Given the description of an element on the screen output the (x, y) to click on. 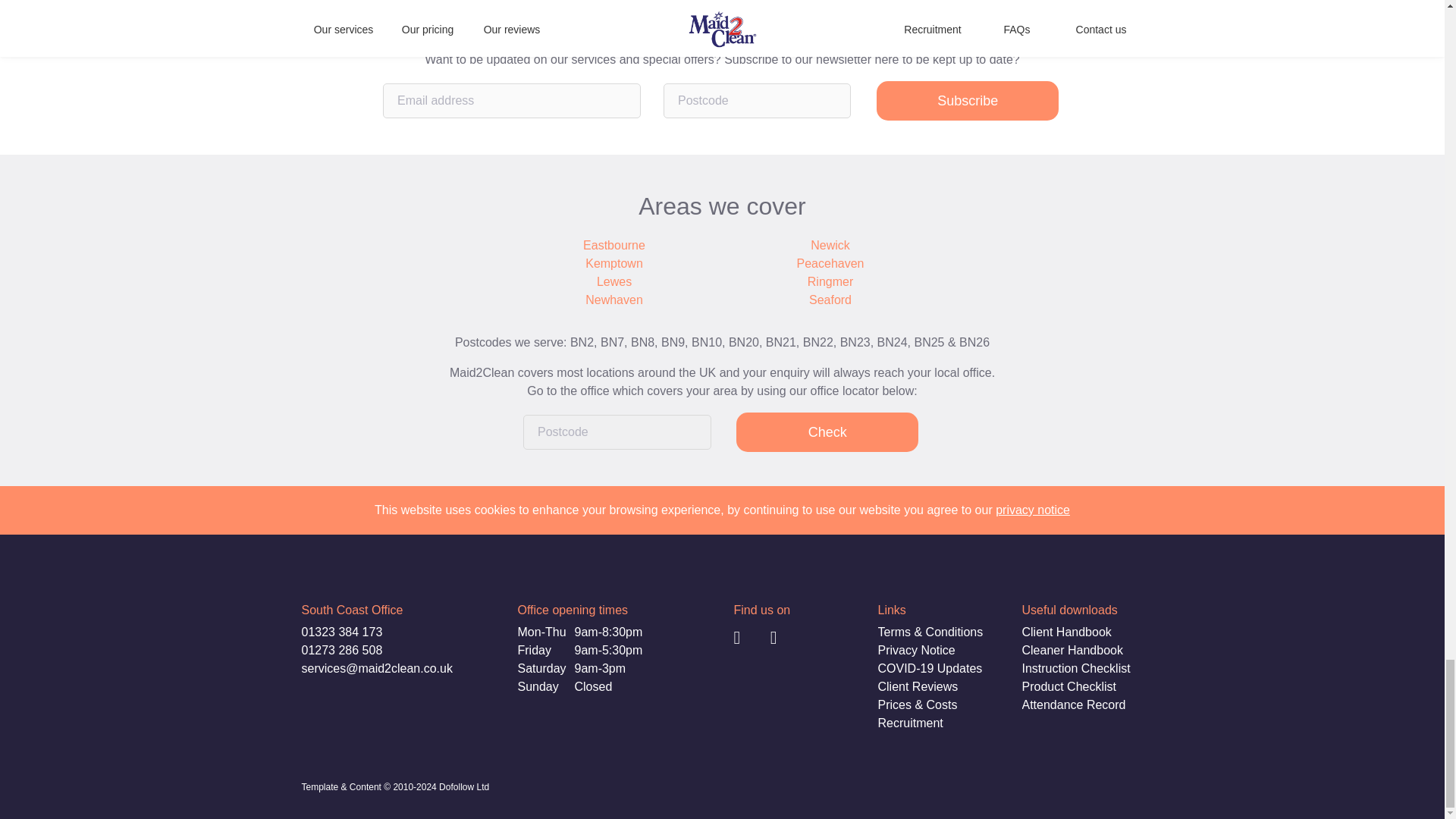
Kemptown (614, 263)
Twitter (790, 638)
Facebook (753, 638)
Lewes (613, 281)
Newick (830, 245)
01323 384 173 (341, 632)
01273 286 508 (341, 650)
Peacehaven (830, 263)
Check (827, 432)
Eastbourne (614, 245)
privacy notice (1032, 510)
Newhaven (614, 300)
Ringmer (830, 281)
Seaford (830, 300)
Subscribe (967, 100)
